Given the description of an element on the screen output the (x, y) to click on. 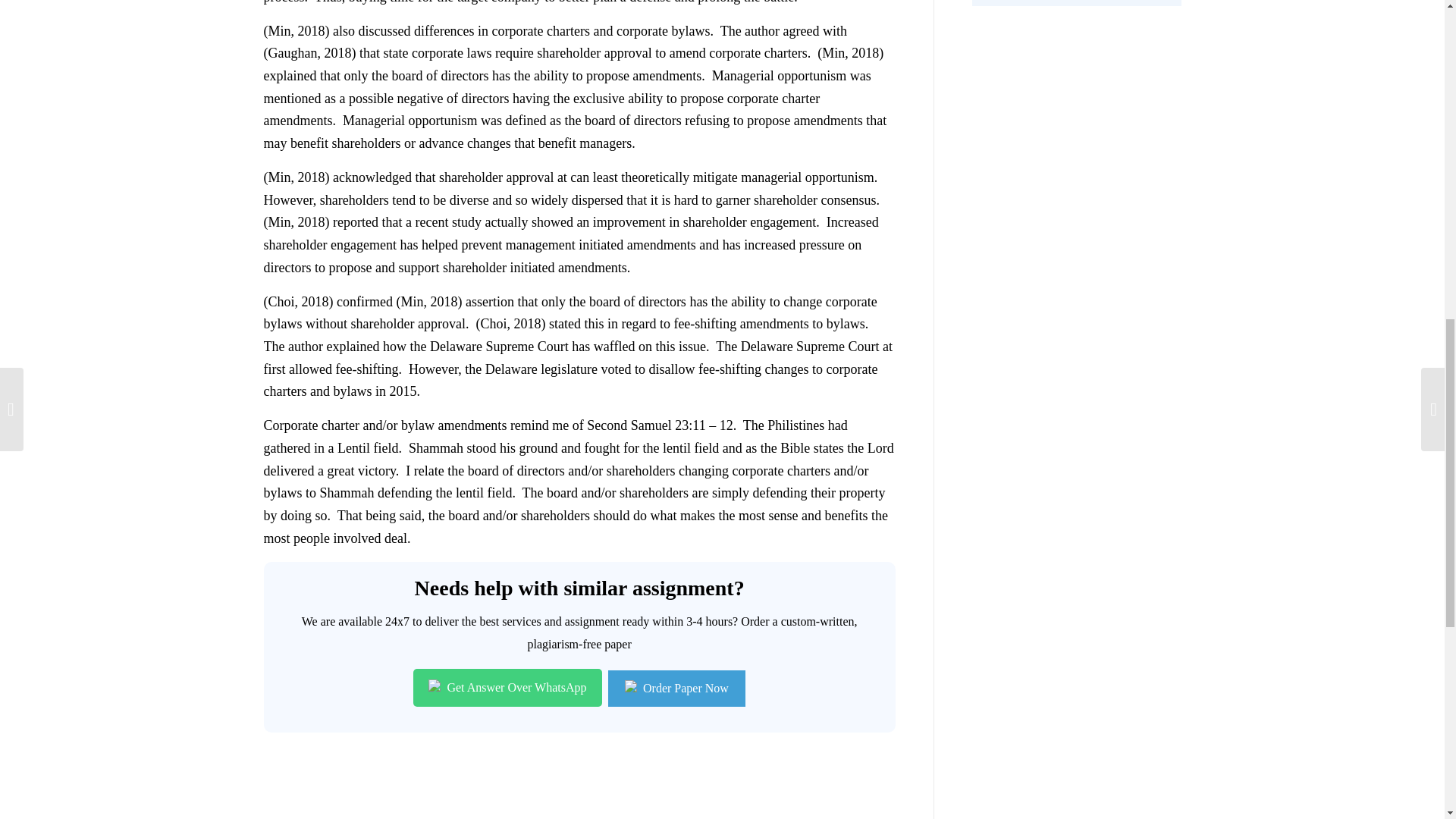
Order Paper Now (676, 688)
Get Answer Over WhatsApp (507, 687)
